Given the description of an element on the screen output the (x, y) to click on. 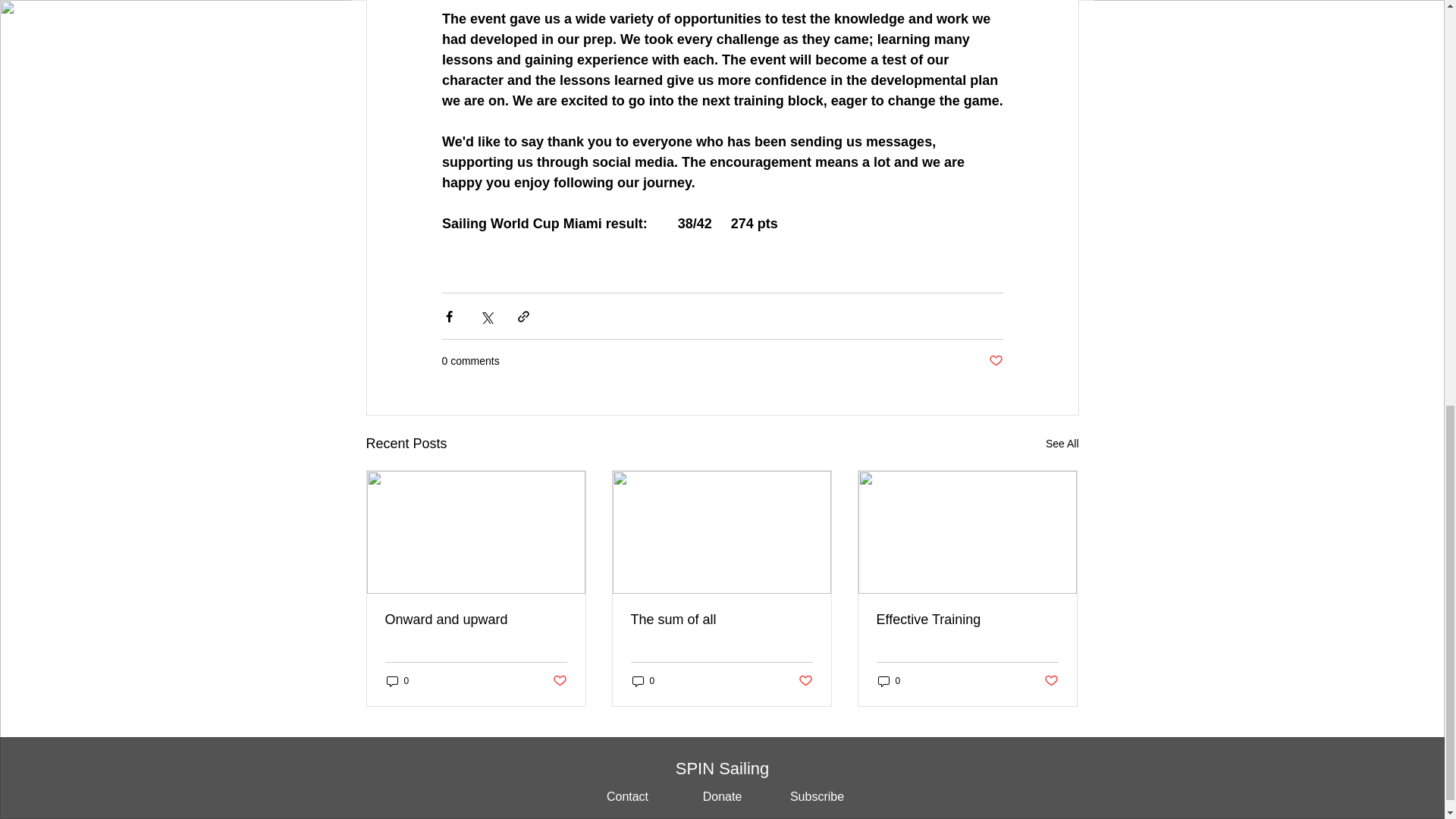
Post not marked as liked (558, 681)
Subscribe (815, 796)
0 (643, 681)
Onward and upward (476, 619)
Donate (722, 796)
The sum of all (721, 619)
See All (1061, 444)
0 (397, 681)
0 (889, 681)
Post not marked as liked (1050, 681)
Post not marked as liked (995, 360)
Contact (626, 796)
Effective Training (967, 619)
Post not marked as liked (804, 681)
